Given the description of an element on the screen output the (x, y) to click on. 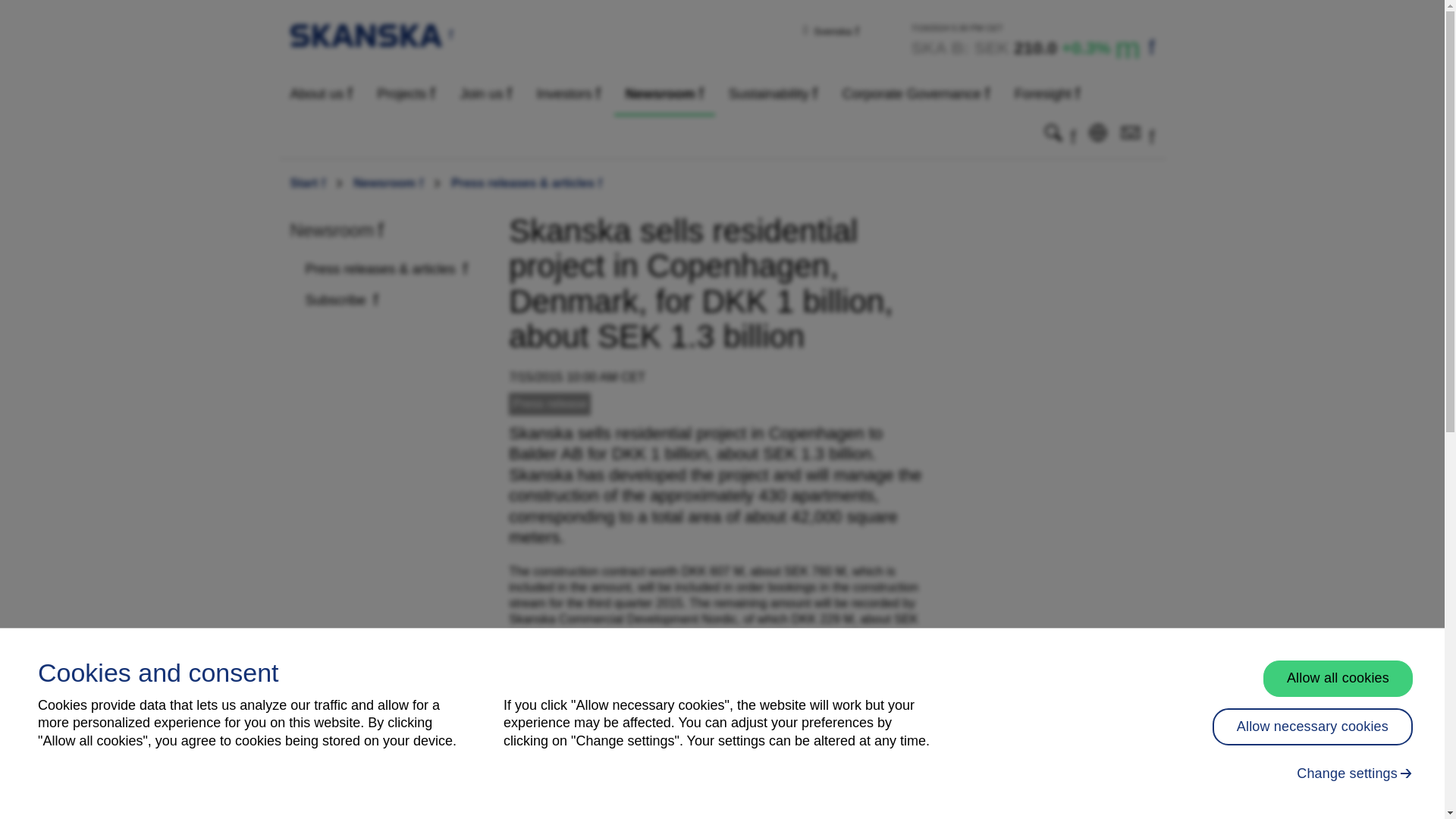
Projects (406, 93)
Join us (485, 93)
Svenska (836, 30)
Compare (1032, 40)
Skanska (370, 33)
About us (321, 93)
